Given the description of an element on the screen output the (x, y) to click on. 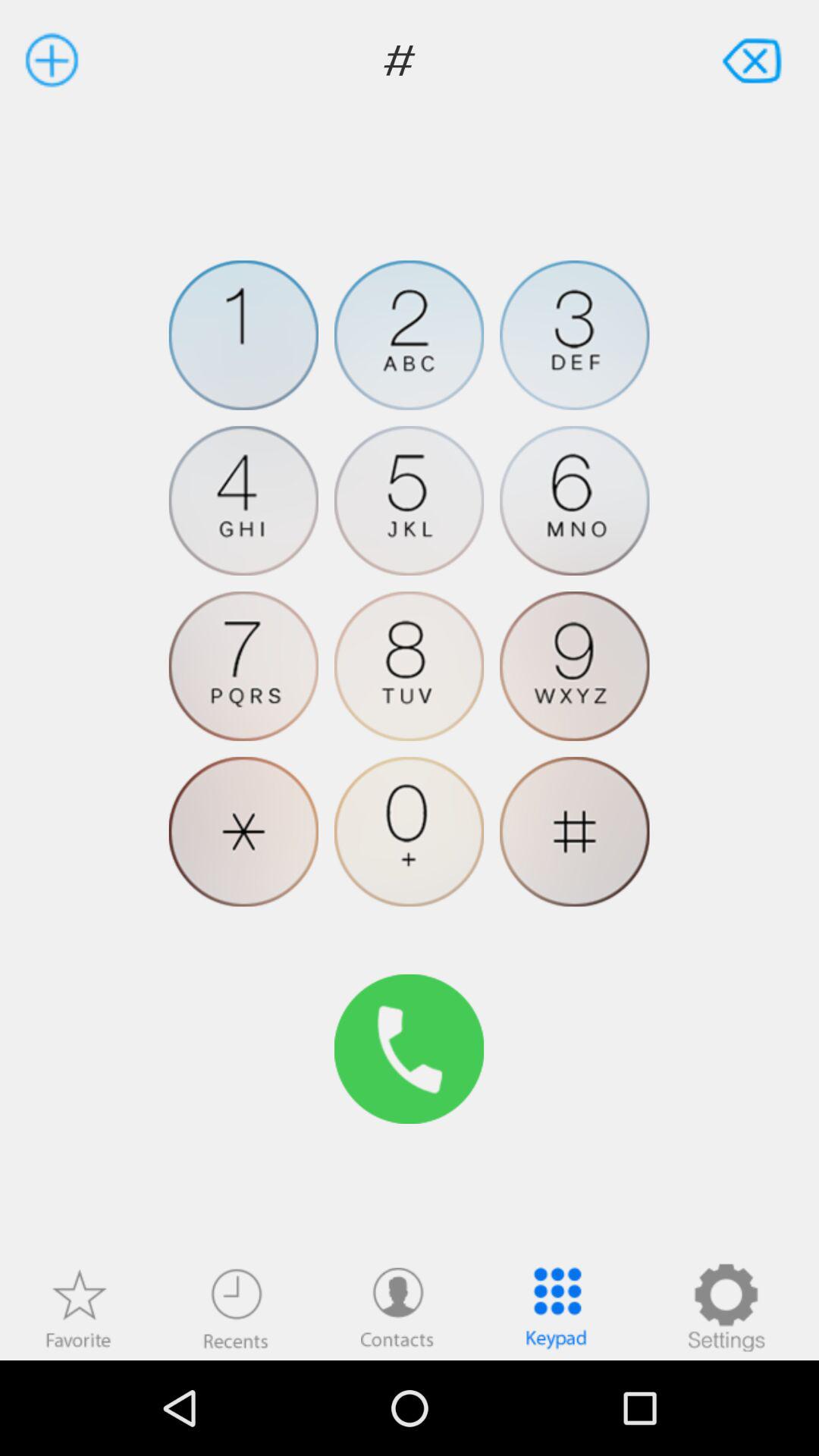
go back (754, 59)
